Given the description of an element on the screen output the (x, y) to click on. 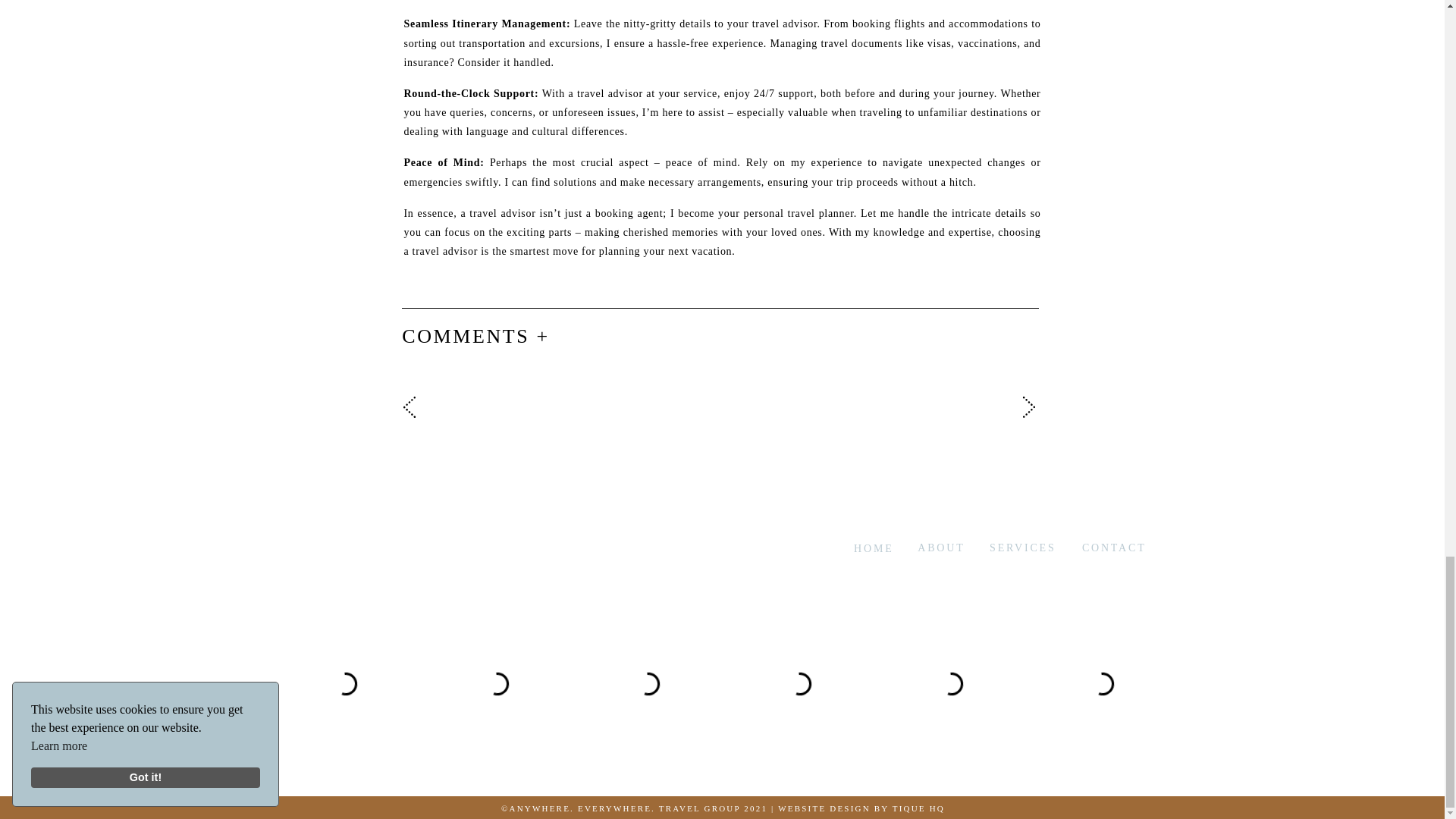
HOME (854, 546)
ABOUT (925, 545)
SERVICES (1017, 545)
WEBSITE DESIGN BY TIQUE HQ (860, 808)
CONTACT (1108, 545)
